Given the description of an element on the screen output the (x, y) to click on. 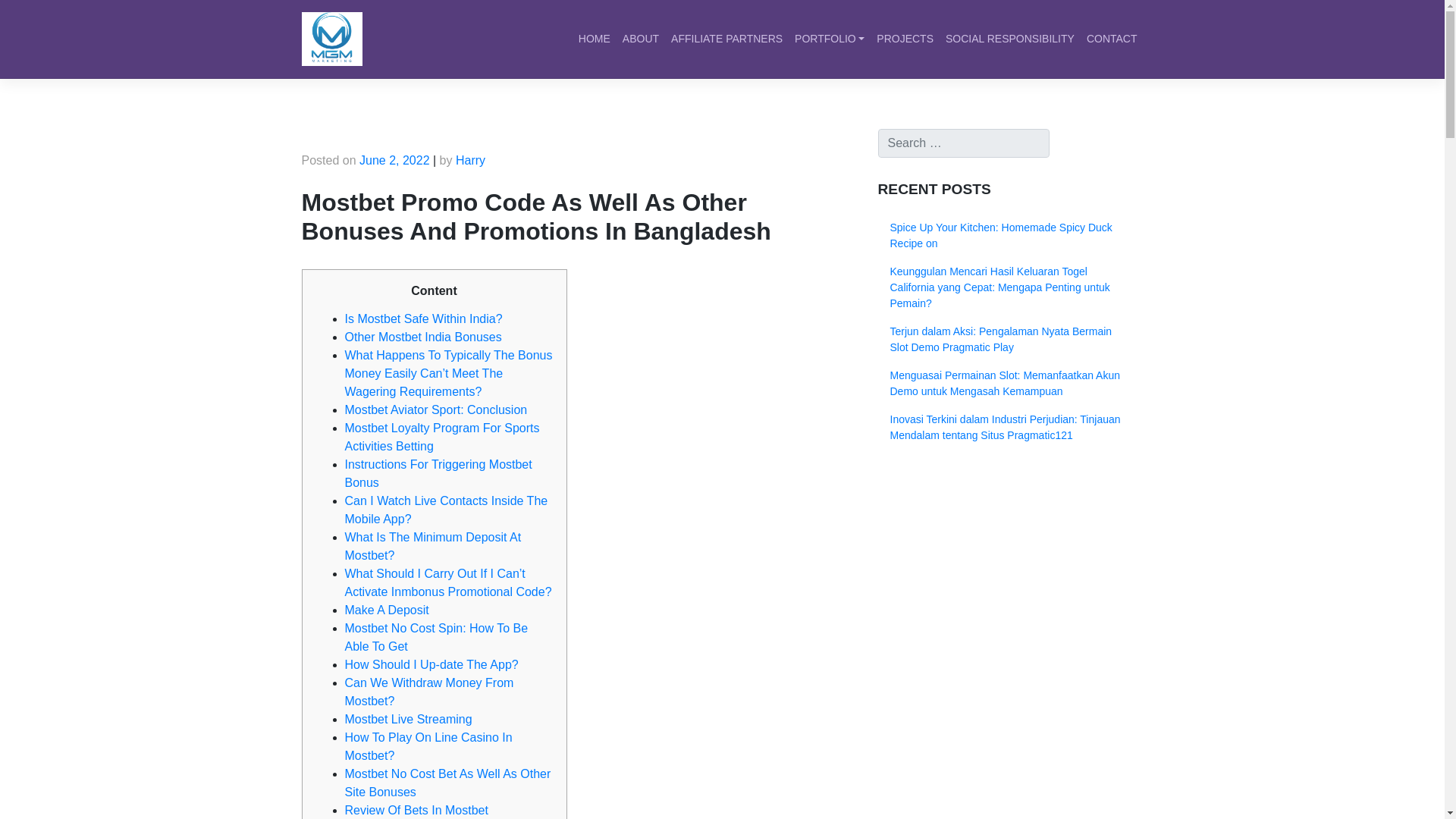
How Should I Up-date The App? (430, 664)
SOCIAL RESPONSIBILITY (1009, 39)
Mostbet Aviator Sport: Conclusion (435, 409)
Home (593, 39)
Is Mostbet Safe Within India? (422, 318)
Can I Watch Live Contacts Inside The Mobile App? (445, 509)
PROJECTS (904, 39)
PORTFOLIO (829, 39)
Affiliate Partners (727, 39)
ABOUT (640, 39)
Contact (1111, 39)
How To Play On Line Casino In Mostbet? (427, 746)
Instructions For Triggering Mostbet Bonus (437, 472)
Make A Deposit (385, 609)
HOME (593, 39)
